Given the description of an element on the screen output the (x, y) to click on. 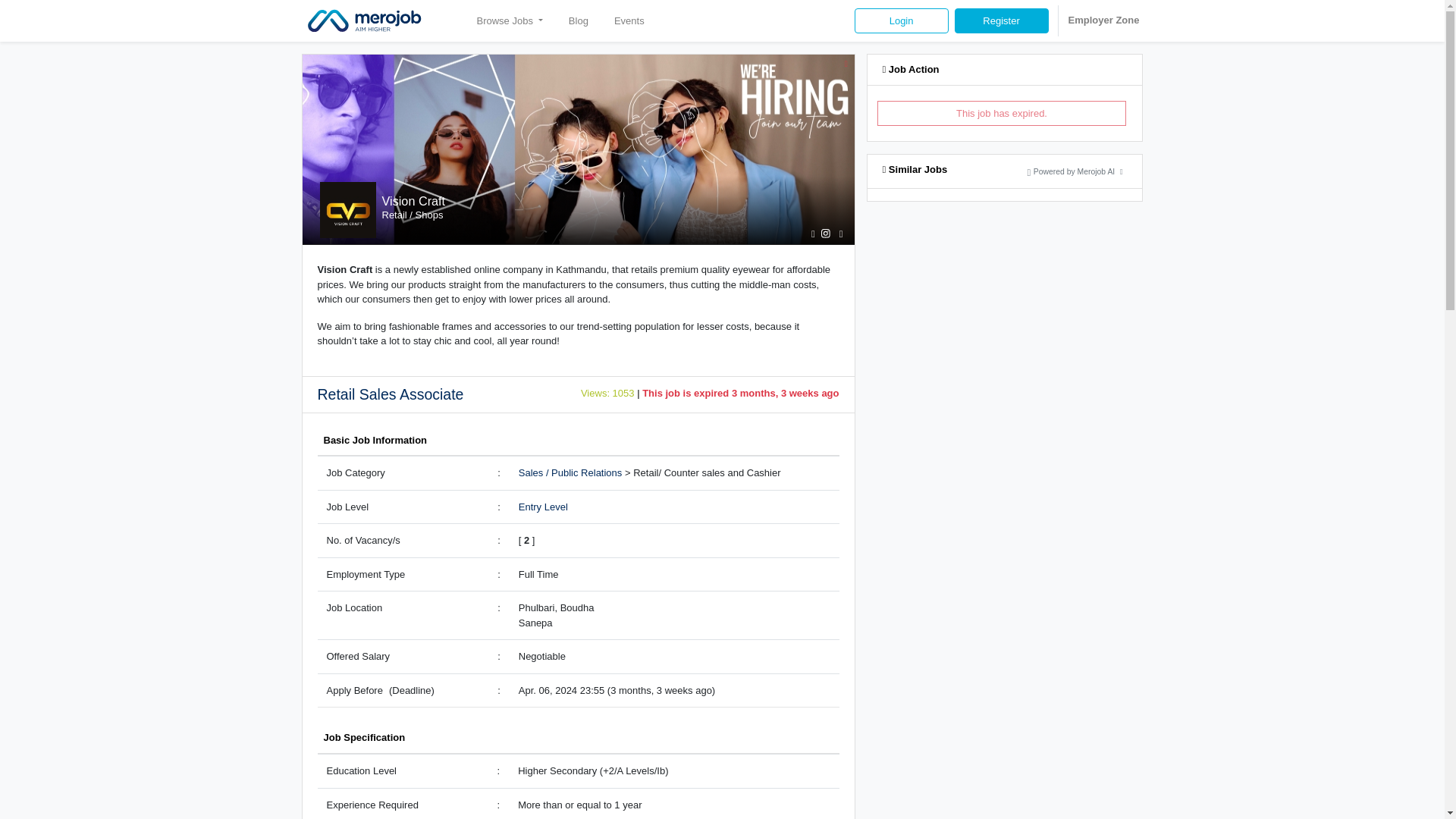
Blog (578, 20)
Events (628, 20)
Login (901, 21)
Employer Zone (1103, 19)
Browse Jobs (509, 20)
Register (1001, 21)
